Given the description of an element on the screen output the (x, y) to click on. 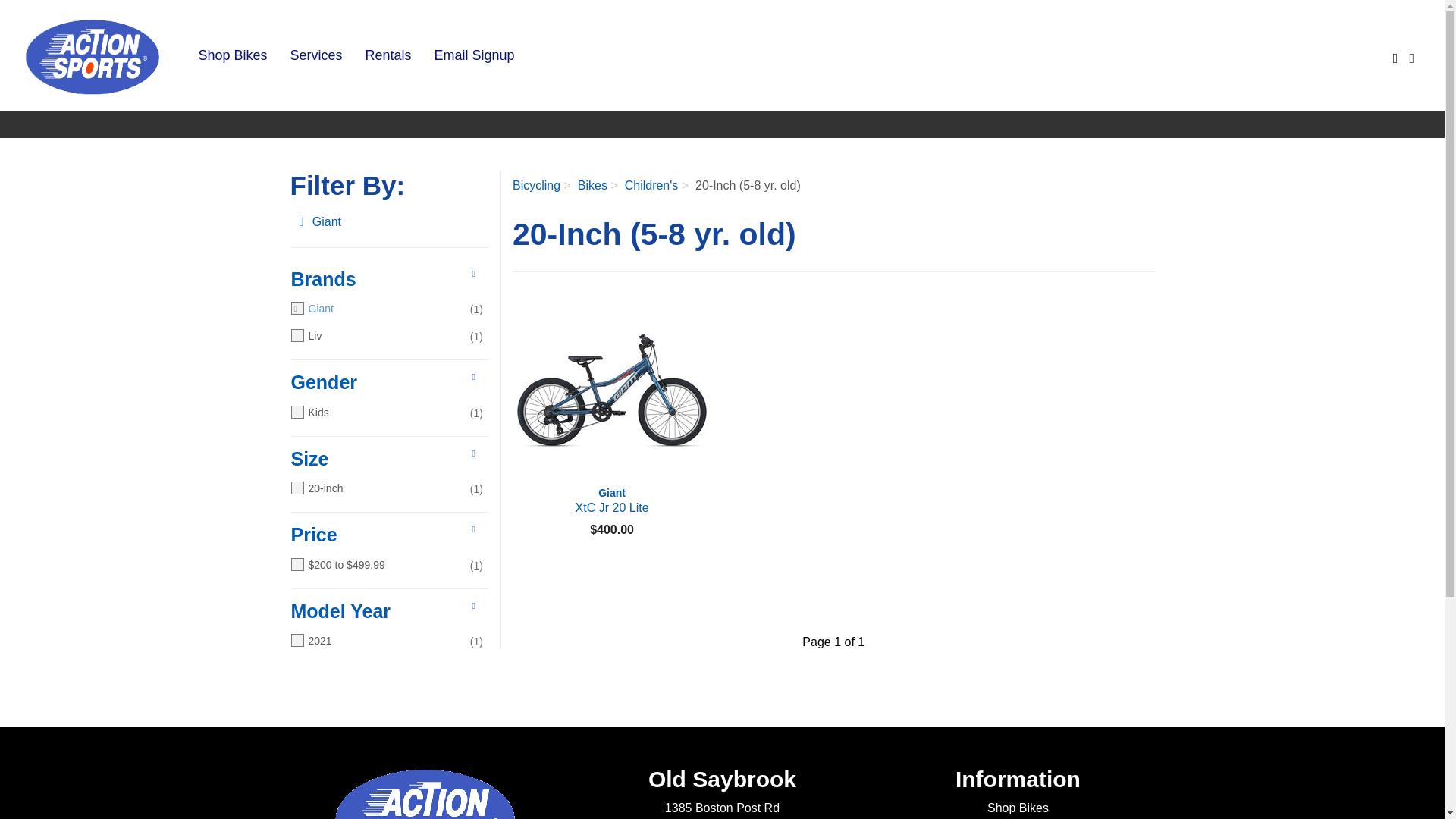
Email Signup (474, 55)
Price (384, 534)
Services (315, 55)
Giant XtC Jr 20 Lite (319, 222)
Giant XtC Jr 20 Lite (611, 390)
Model Year (611, 500)
Bicycling (384, 611)
Rentals (536, 185)
Bikes (387, 55)
Size (592, 185)
Gender (384, 459)
Children's (384, 382)
Search (611, 500)
